Given the description of an element on the screen output the (x, y) to click on. 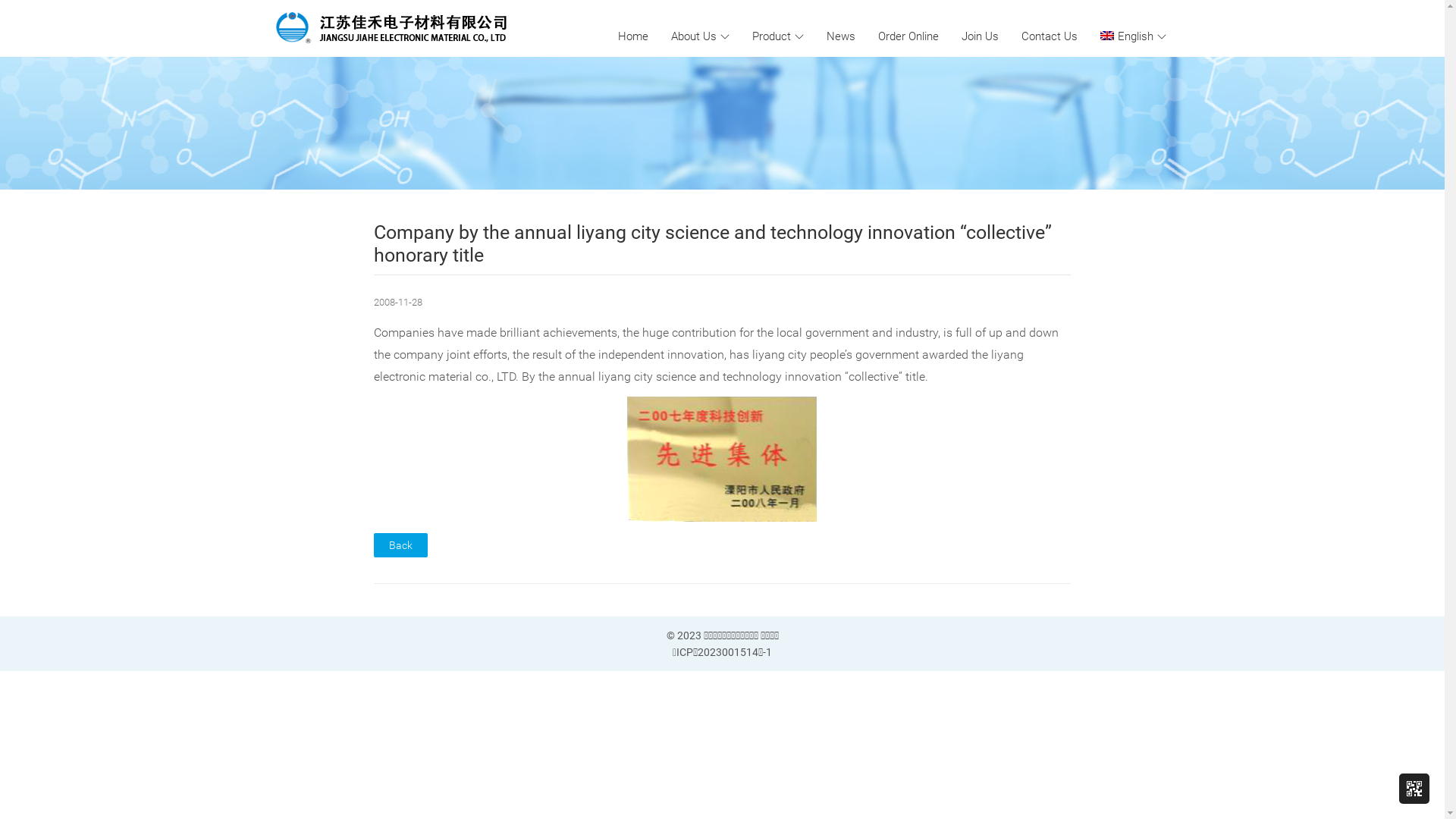
Order Online Element type: text (908, 36)
2008-11-28 Element type: text (397, 301)
Product Structure Element type: text (775, 70)
Contact Us Element type: text (1049, 36)
Product Element type: text (777, 36)
News Element type: text (840, 36)
Company Profiles Element type: text (697, 70)
About Us Element type: text (699, 36)
Join Us Element type: text (980, 36)
Back Element type: text (400, 545)
Home Element type: text (632, 36)
English Element type: text (1132, 36)
Skip to content Element type: text (605, 24)
